Given the description of an element on the screen output the (x, y) to click on. 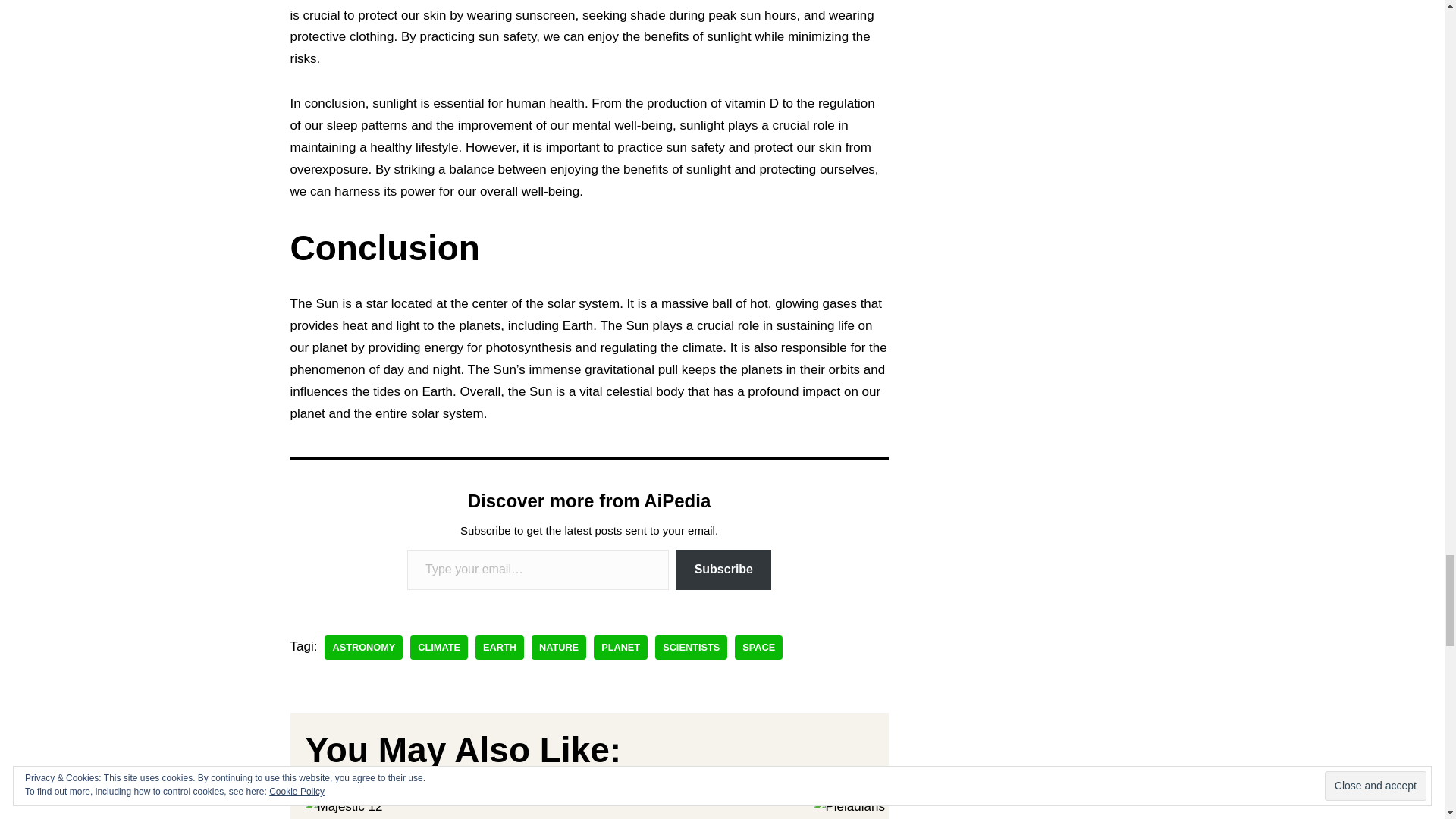
Climate (438, 647)
Nature (558, 647)
Scientists (690, 647)
Please fill in this field. (537, 569)
Earth (500, 647)
planet (620, 647)
Astronomy (363, 647)
Space (759, 647)
